Given the description of an element on the screen output the (x, y) to click on. 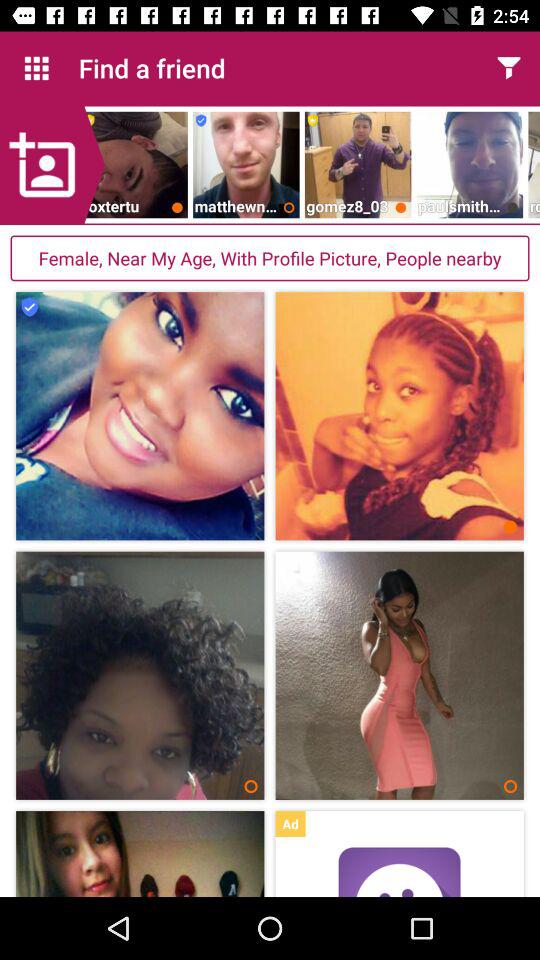
tourch button (508, 67)
